Given the description of an element on the screen output the (x, y) to click on. 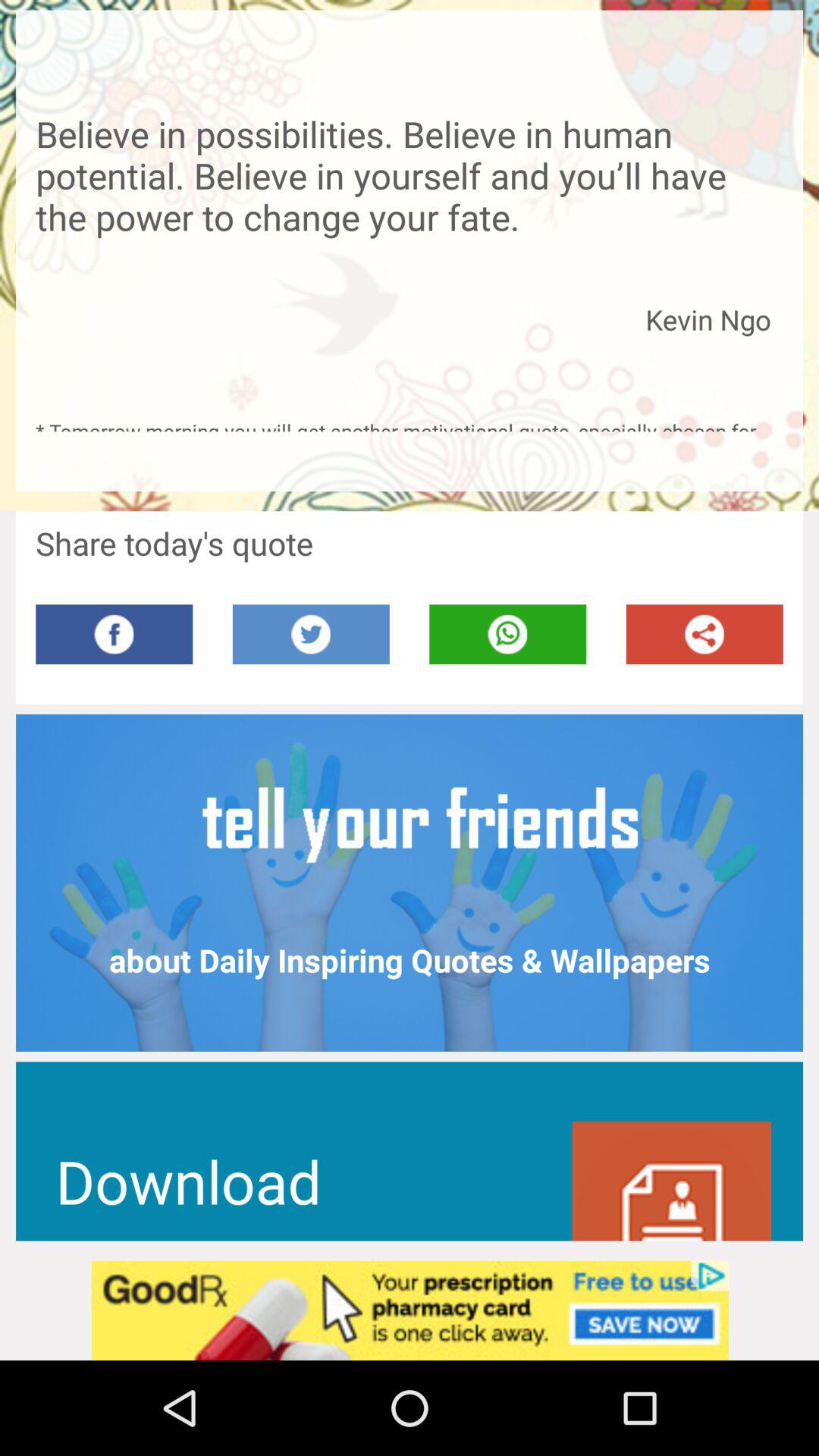
advertisement (409, 1310)
